Given the description of an element on the screen output the (x, y) to click on. 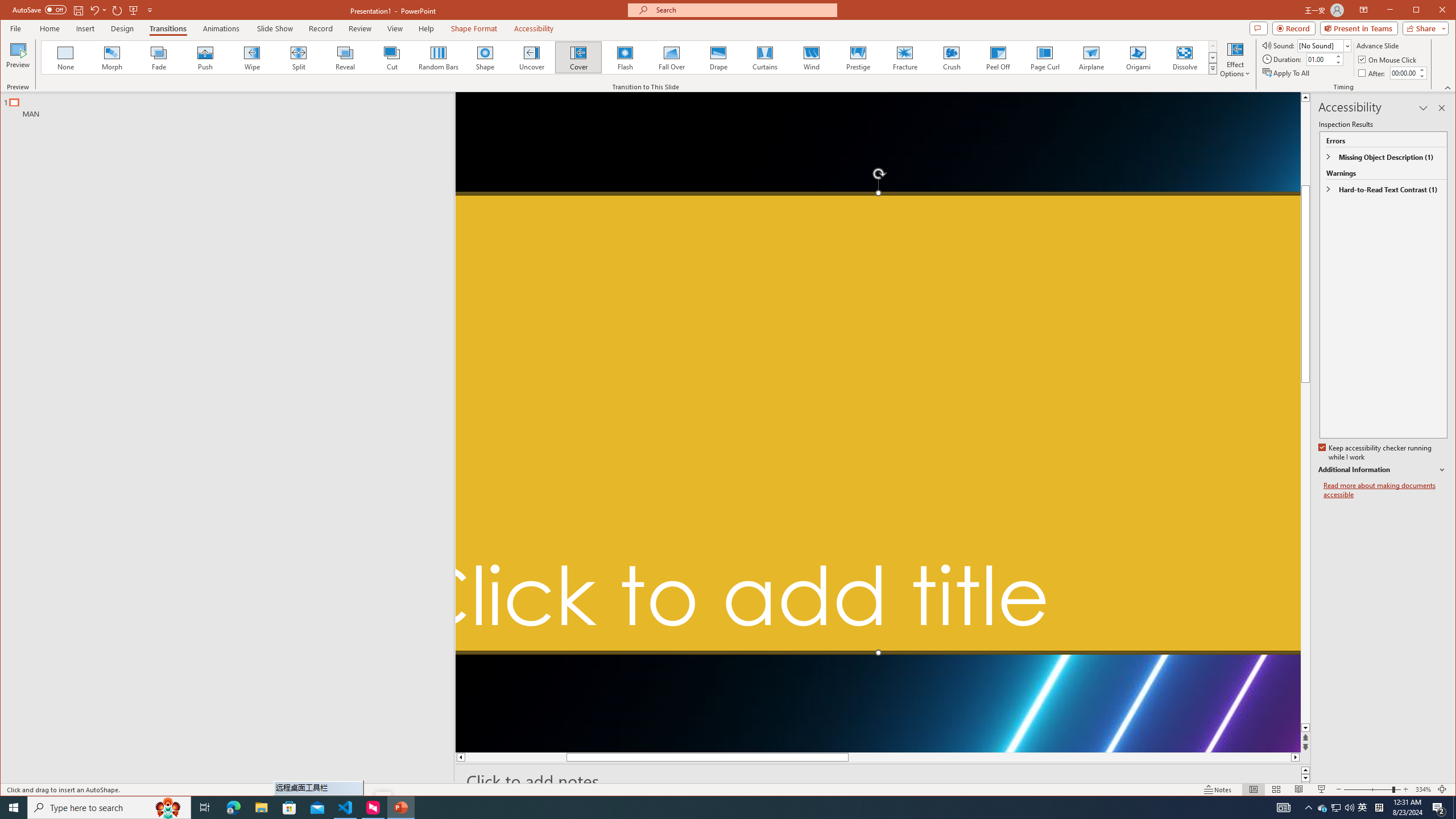
Page Curl (1045, 57)
Maximize (1432, 11)
Additional Information (1382, 469)
Fracture (904, 57)
